Given the description of an element on the screen output the (x, y) to click on. 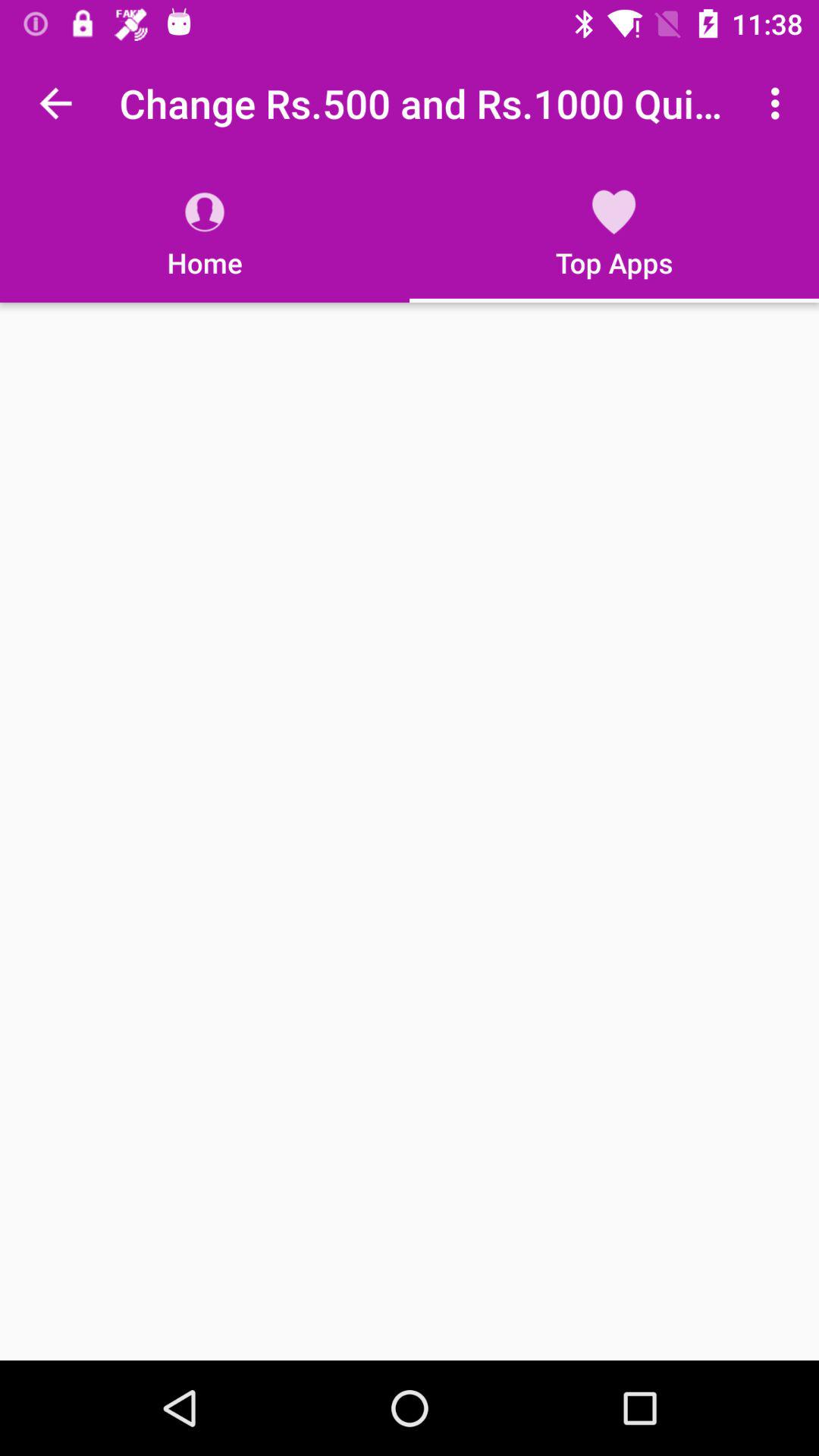
open the icon above the top apps item (779, 103)
